Given the description of an element on the screen output the (x, y) to click on. 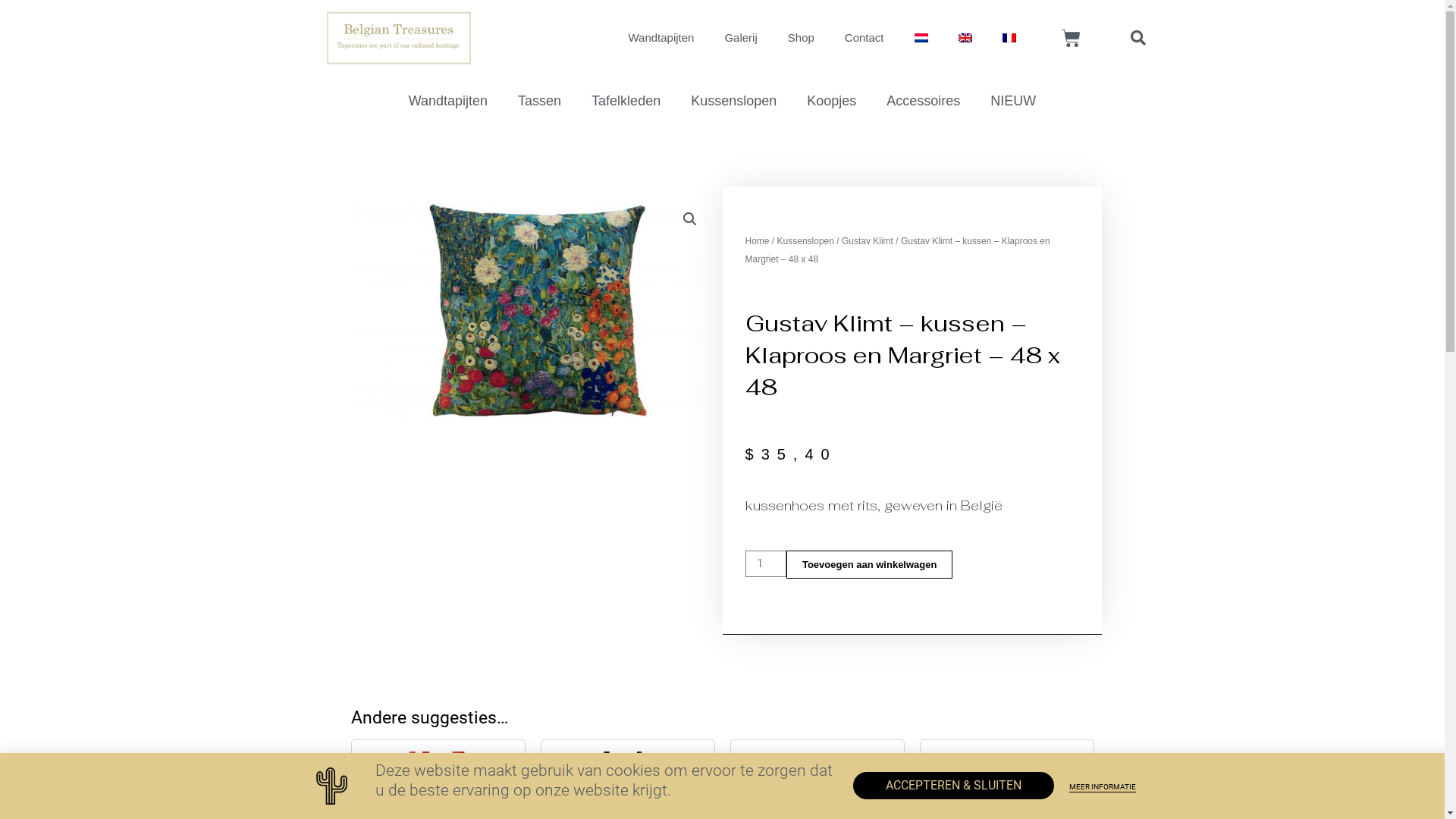
ACCEPTEREN & SLUITEN Element type: text (953, 785)
Wandtapijten Element type: text (660, 37)
Shop Element type: text (800, 37)
Koopjes Element type: text (831, 100)
Home Element type: text (756, 240)
Galerij Element type: text (740, 37)
Tassen Element type: text (539, 100)
Contact Element type: text (864, 37)
MEER INFORMATIE Element type: text (1102, 787)
NIEUW Element type: text (1013, 100)
Tafelkleden Element type: text (625, 100)
Cart Element type: text (1070, 38)
Kussenslopen Element type: text (733, 100)
Kussenslopen Element type: text (805, 240)
Wandtapijten Element type: text (447, 100)
Gustav Klimt Element type: text (867, 240)
Accessoires Element type: text (923, 100)
Toevoegen aan winkelwagen Element type: text (869, 564)
06012C (1) Element type: hover (532, 315)
